Given the description of an element on the screen output the (x, y) to click on. 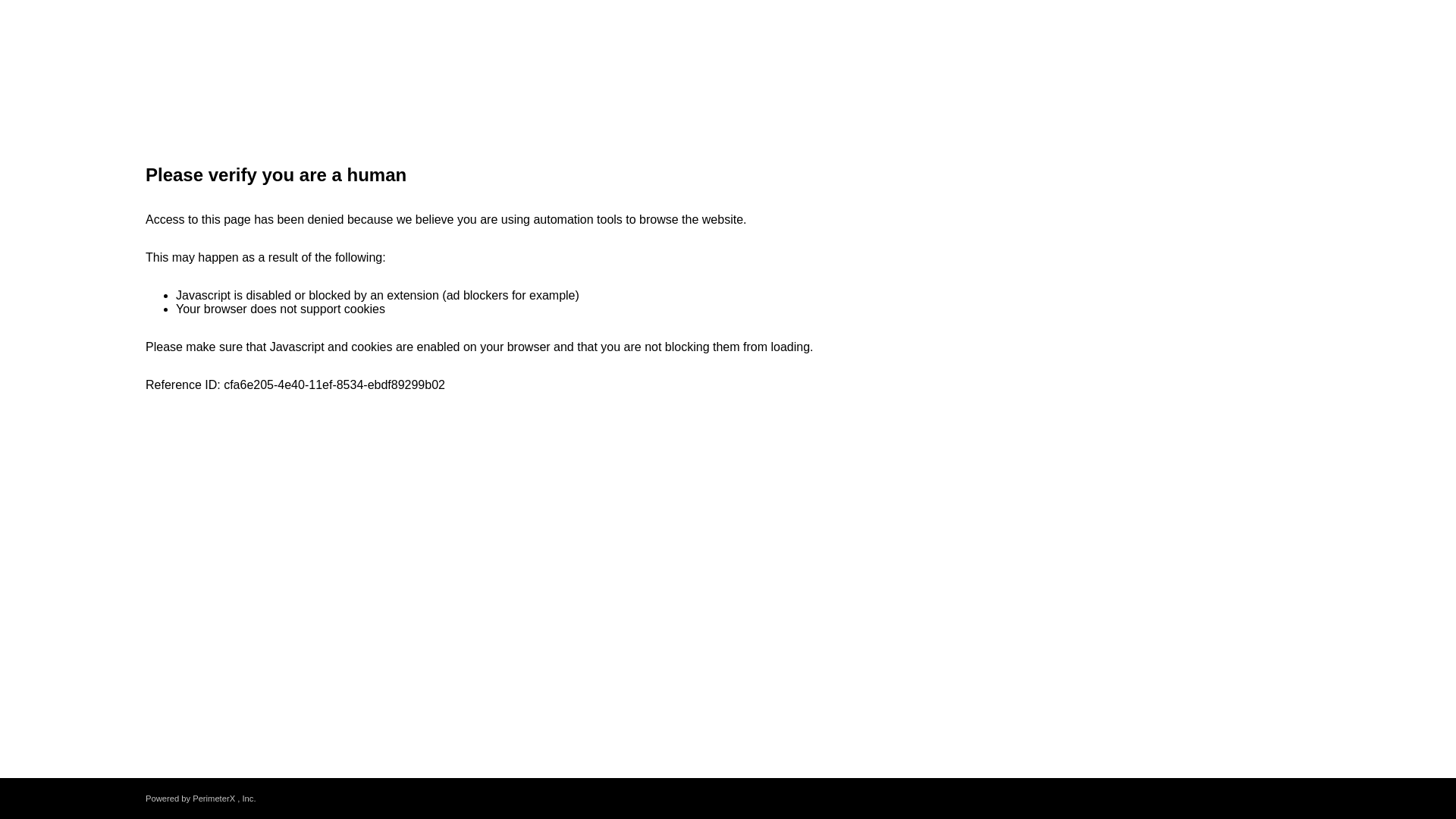
PerimeterX (213, 798)
